Given the description of an element on the screen output the (x, y) to click on. 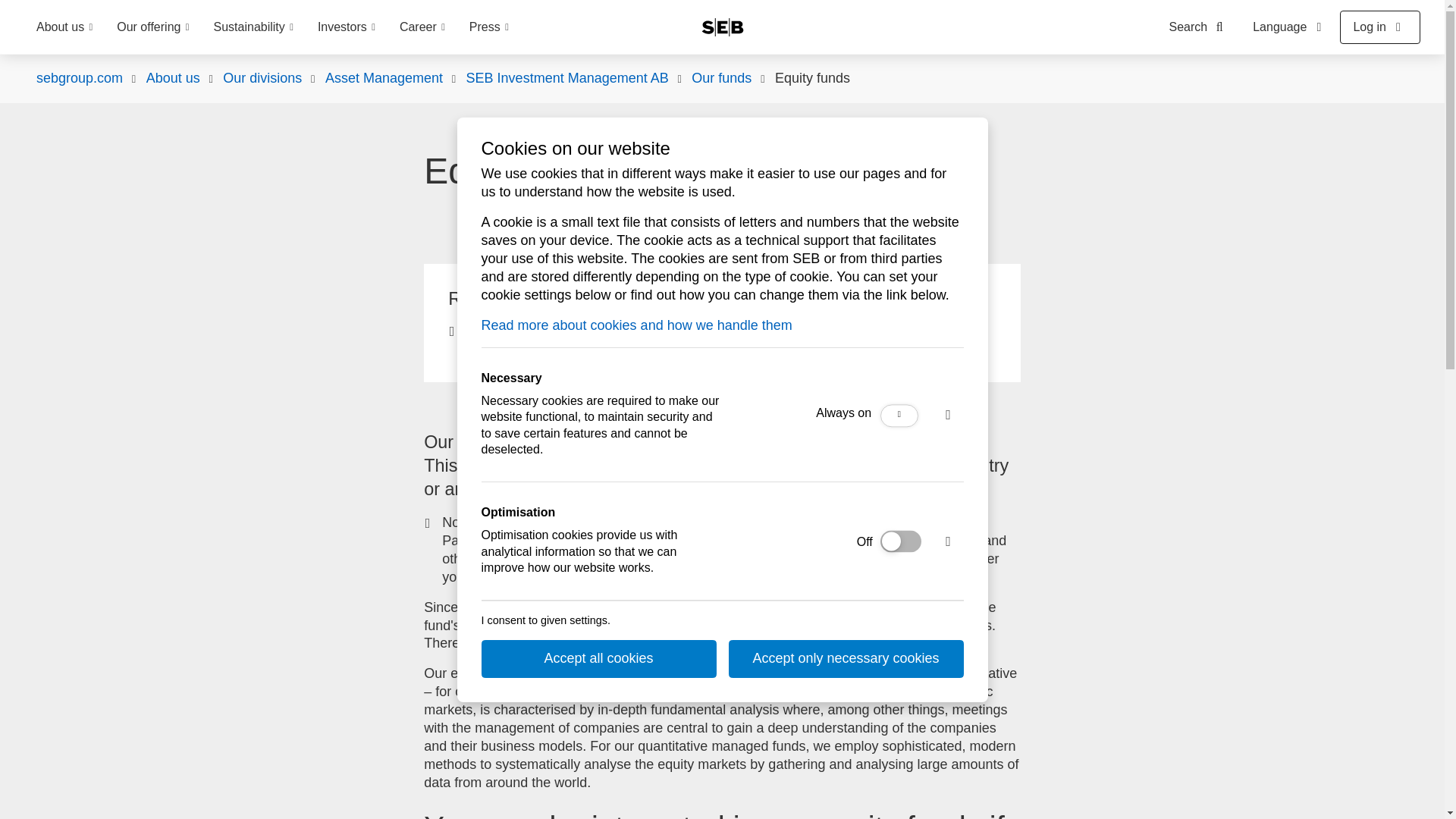
Sustainability (253, 27)
sebgroup.com (79, 78)
Asset Management (383, 78)
Our offering (152, 27)
About us (173, 78)
Search (1199, 27)
SEB Investment Management AB (566, 78)
Investors (346, 27)
Our funds (721, 78)
Career (422, 27)
